Given the description of an element on the screen output the (x, y) to click on. 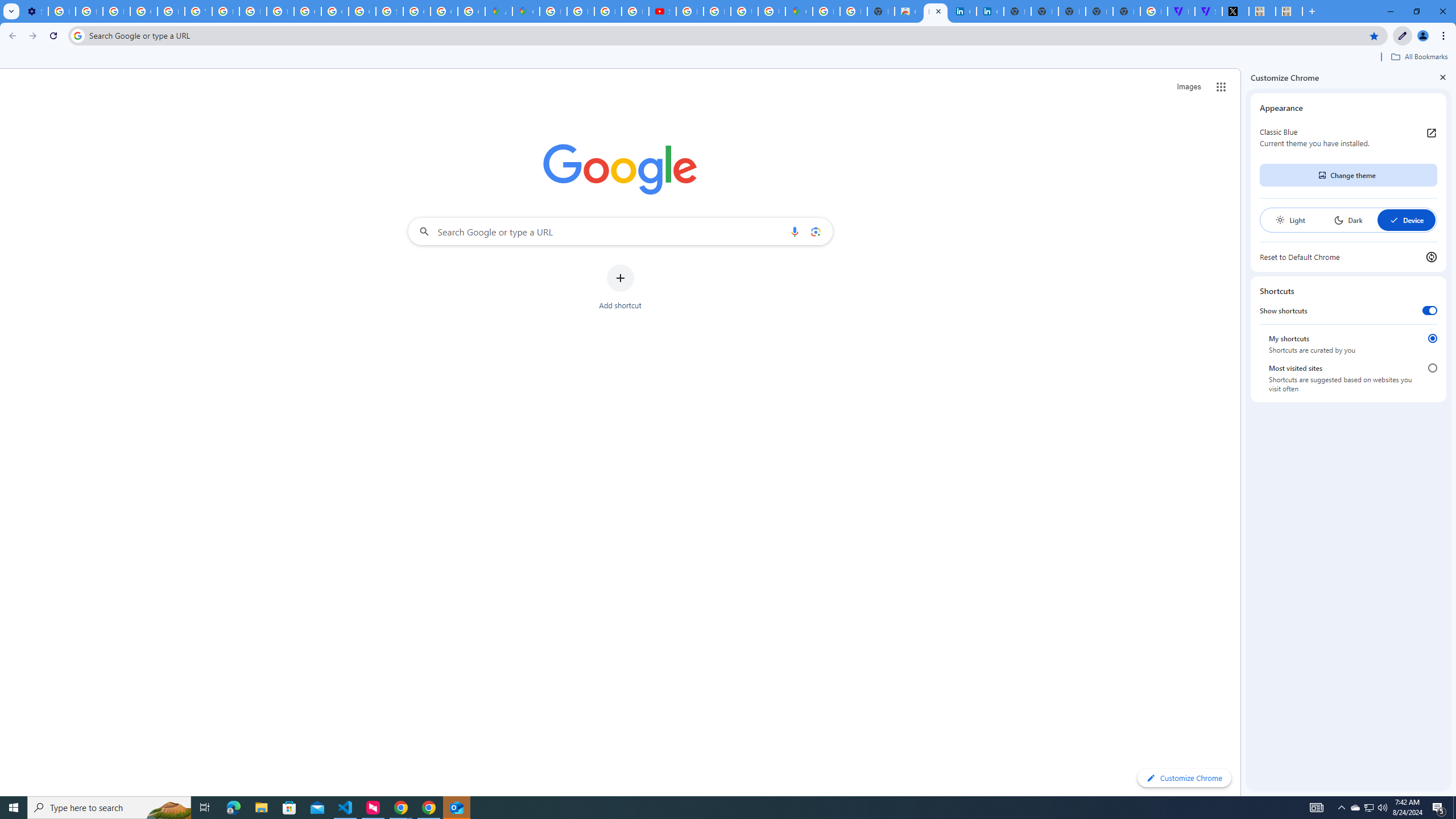
Google Maps (525, 11)
Side Panel Resize Handle (1242, 431)
Subscriptions - YouTube (662, 11)
YouTube (197, 11)
